Given the description of an element on the screen output the (x, y) to click on. 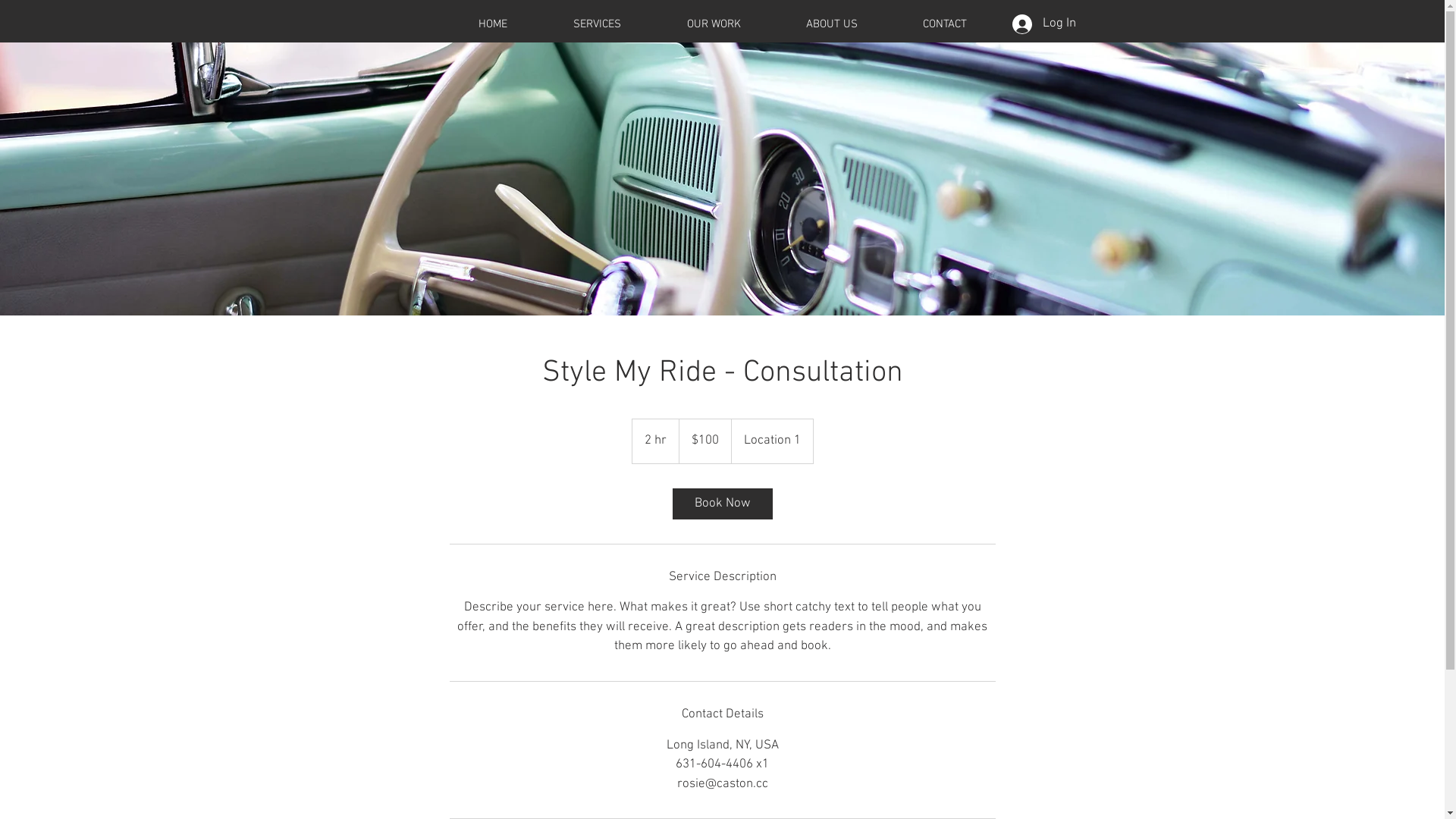
Book Now Element type: text (721, 503)
ABOUT US Element type: text (831, 24)
SERVICES Element type: text (596, 24)
OUR WORK Element type: text (712, 24)
HOME Element type: text (492, 24)
Log In Element type: text (1043, 23)
CONTACT Element type: text (944, 24)
